Given the description of an element on the screen output the (x, y) to click on. 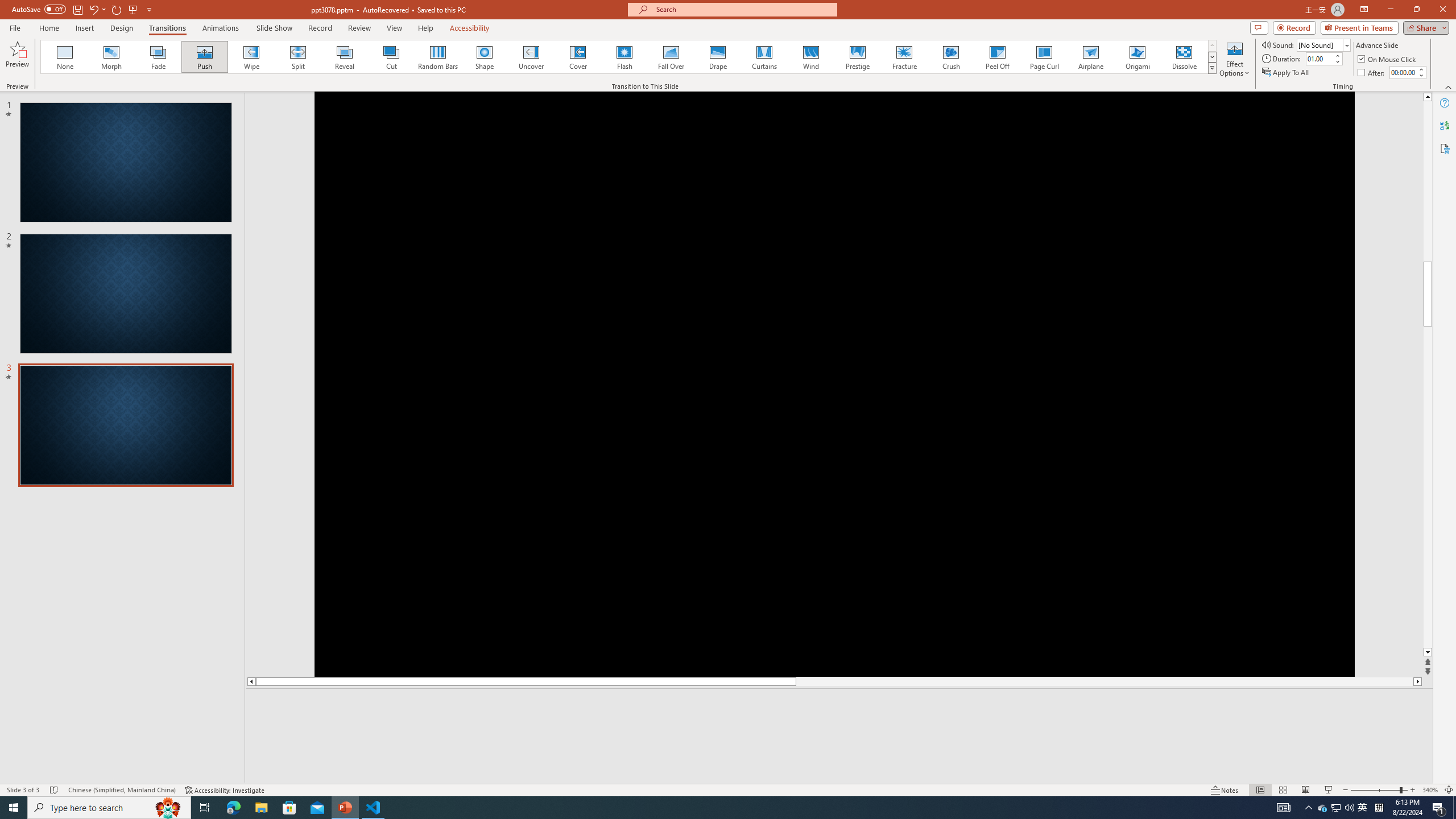
Peel Off (997, 56)
Prestige (857, 56)
Push (205, 56)
None (65, 56)
Translator (1444, 125)
